Given the description of an element on the screen output the (x, y) to click on. 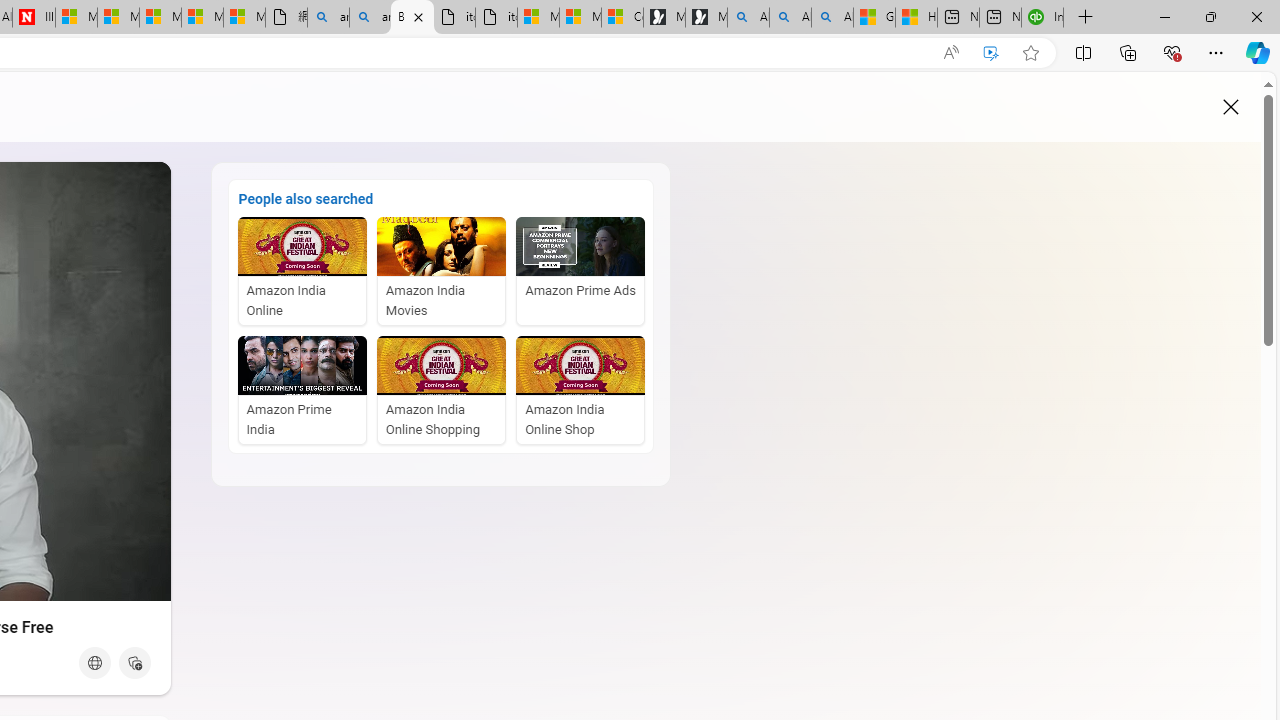
Illness news & latest pictures from Newsweek.com (33, 17)
itconcepthk.com/projector_solutions.mp4 (496, 17)
Save Button (134, 662)
Amazon India Movies (441, 271)
